Given the description of an element on the screen output the (x, y) to click on. 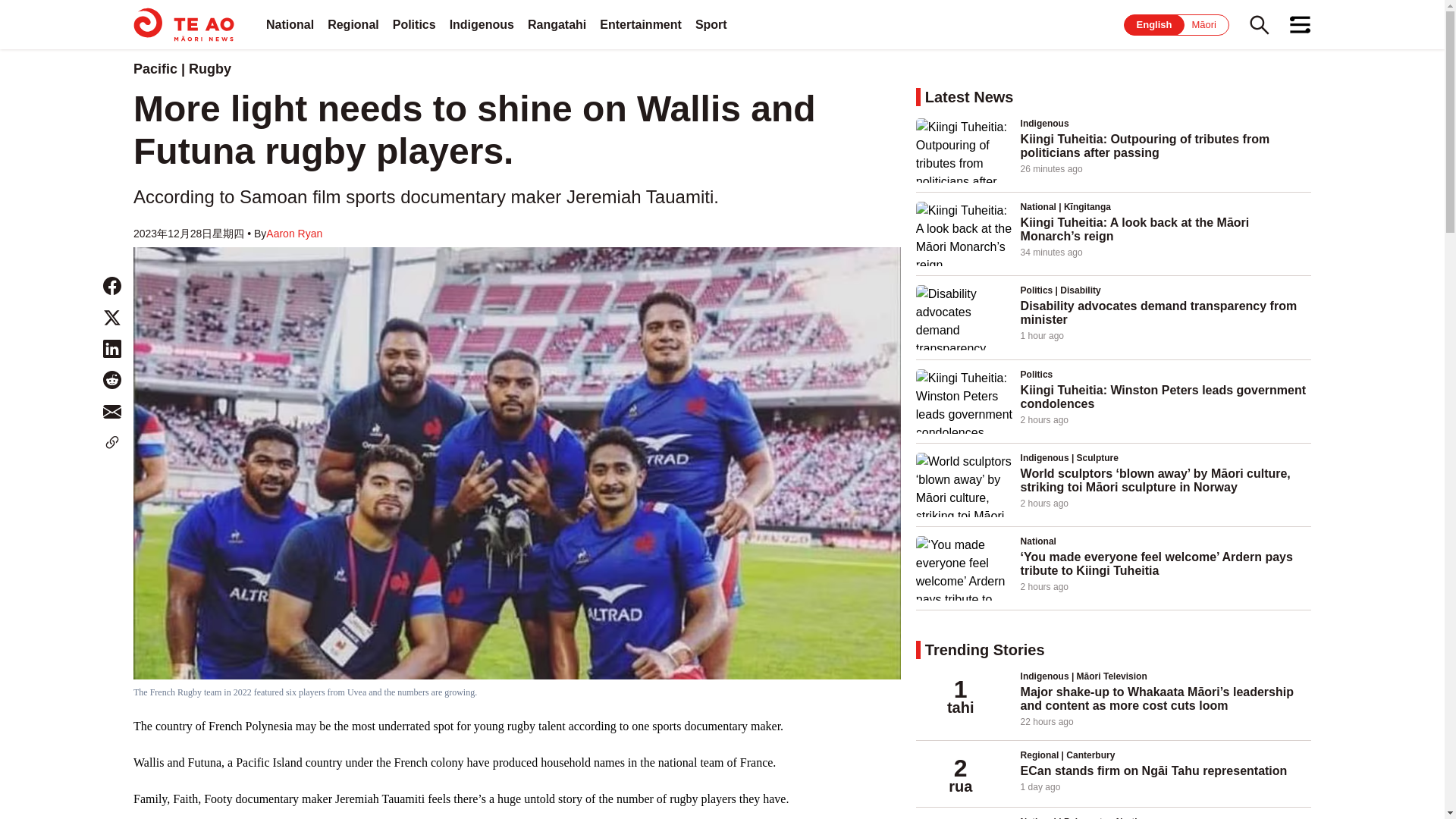
National (290, 24)
Indigenous (481, 24)
English (1154, 24)
Aaron Ryan (293, 233)
Entertainment (640, 24)
Politics (414, 24)
Copy SocialLink (111, 442)
Rangatahi (556, 24)
